Given the description of an element on the screen output the (x, y) to click on. 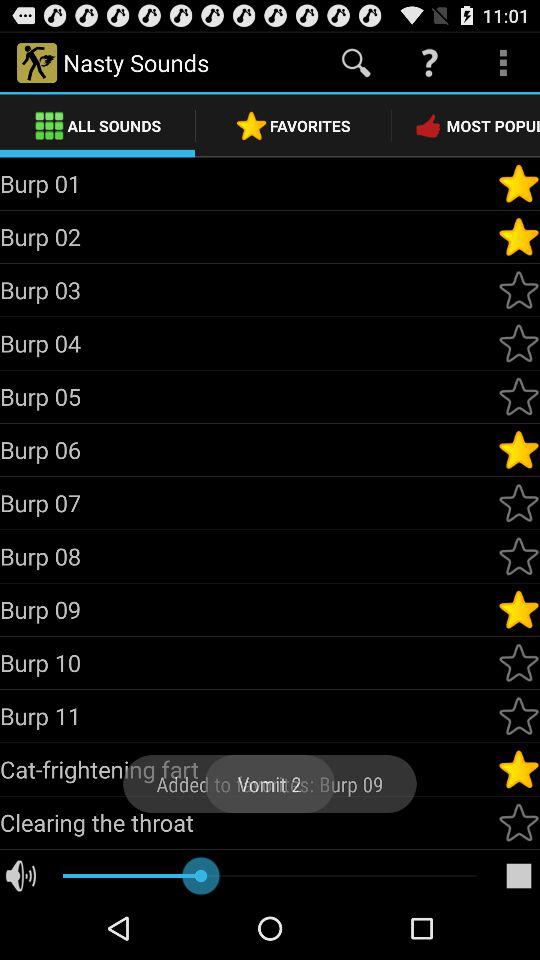
favorite a nasty sound (519, 769)
